Given the description of an element on the screen output the (x, y) to click on. 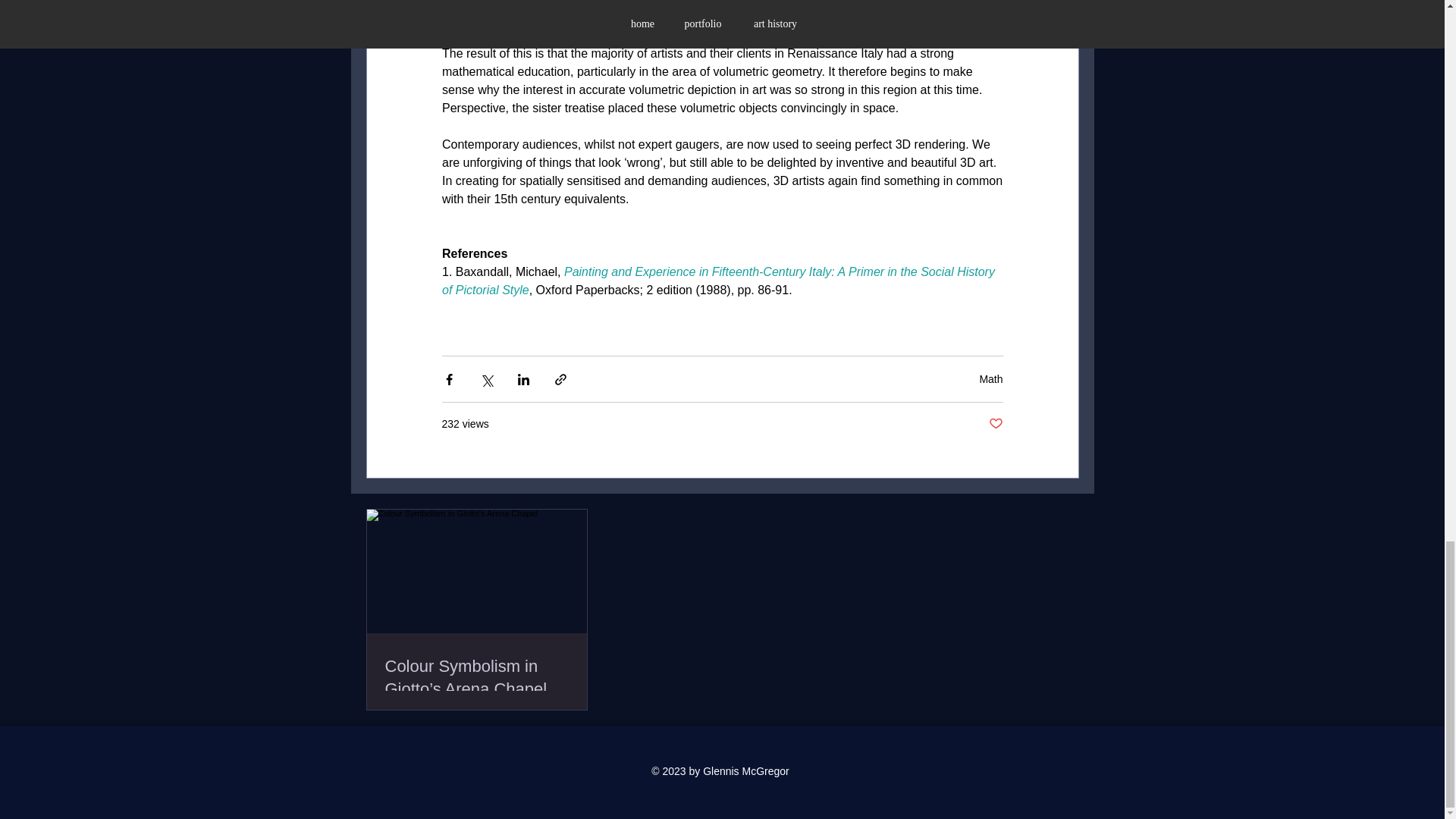
Post not marked as liked (995, 424)
Math (990, 378)
